Given the description of an element on the screen output the (x, y) to click on. 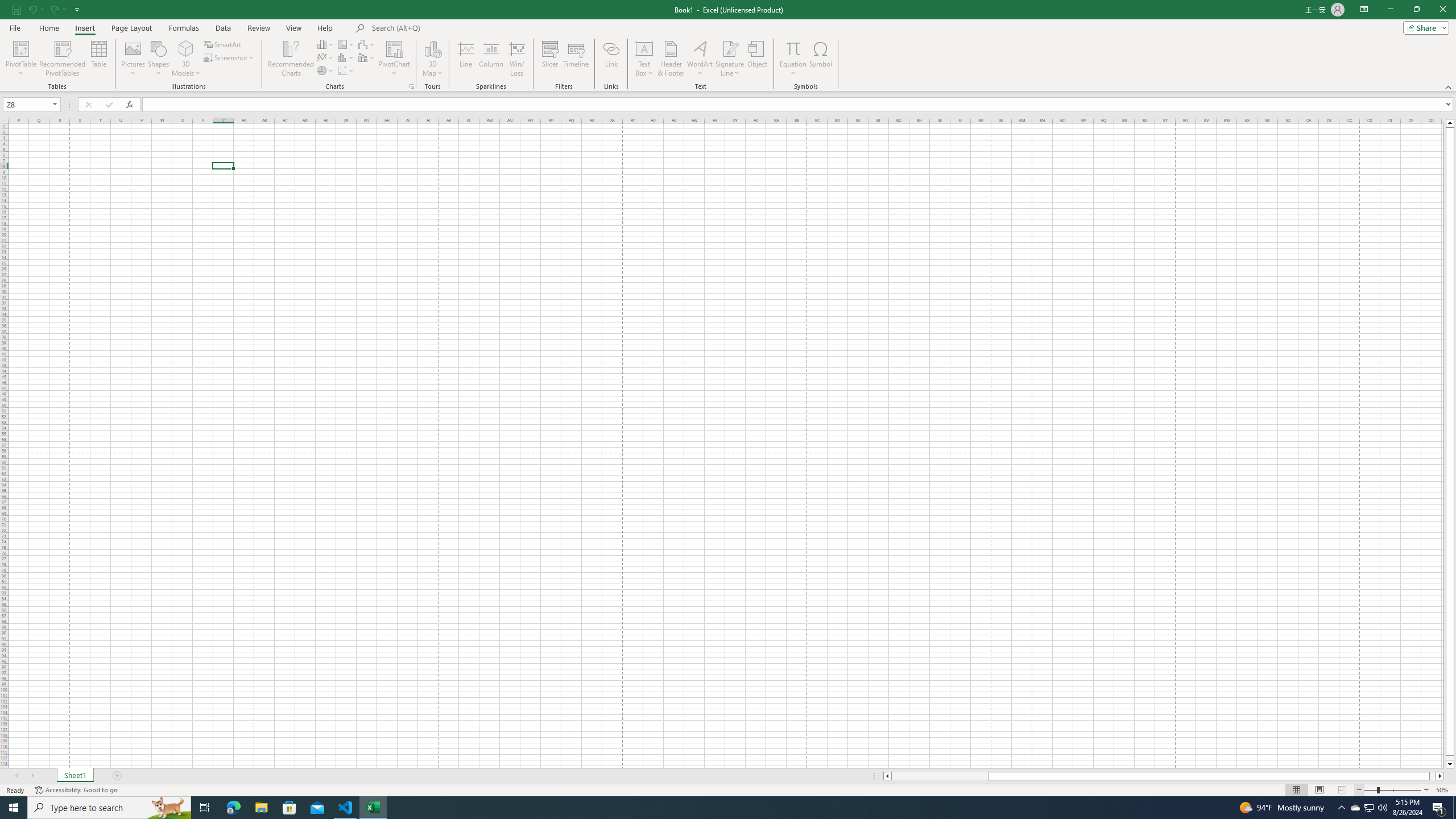
Equation (793, 58)
PivotTable (20, 58)
3D Map (432, 58)
Insert Scatter (X, Y) or Bubble Chart (346, 69)
Recommended PivotTables (62, 58)
